Given the description of an element on the screen output the (x, y) to click on. 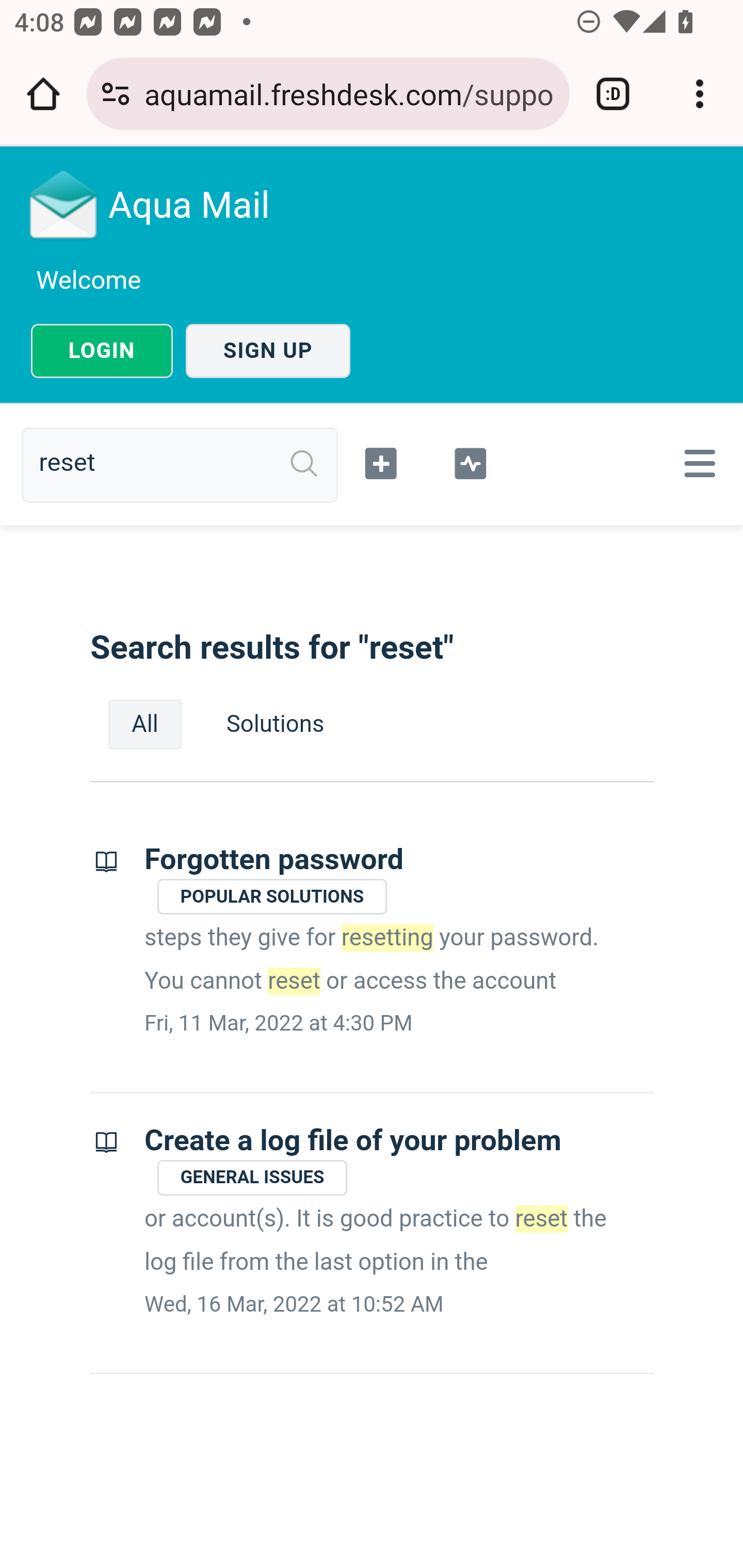
Open the home page (43, 93)
Connection is secure (115, 93)
Switch or close tabs (612, 93)
Customize and control Google Chrome (699, 93)
aquamail.freshdesk.com/support/search?term=reset (349, 92)
Logo (63, 204)
LOGIN (101, 351)
SIGN UP (268, 351)
 (695, 463)
reset (187, 464)
Search (304, 464)
 (381, 460)
 (470, 460)
All (145, 724)
Solutions (275, 724)
Forgotten password (274, 860)
Create a log file of your problem (353, 1140)
